Given the description of an element on the screen output the (x, y) to click on. 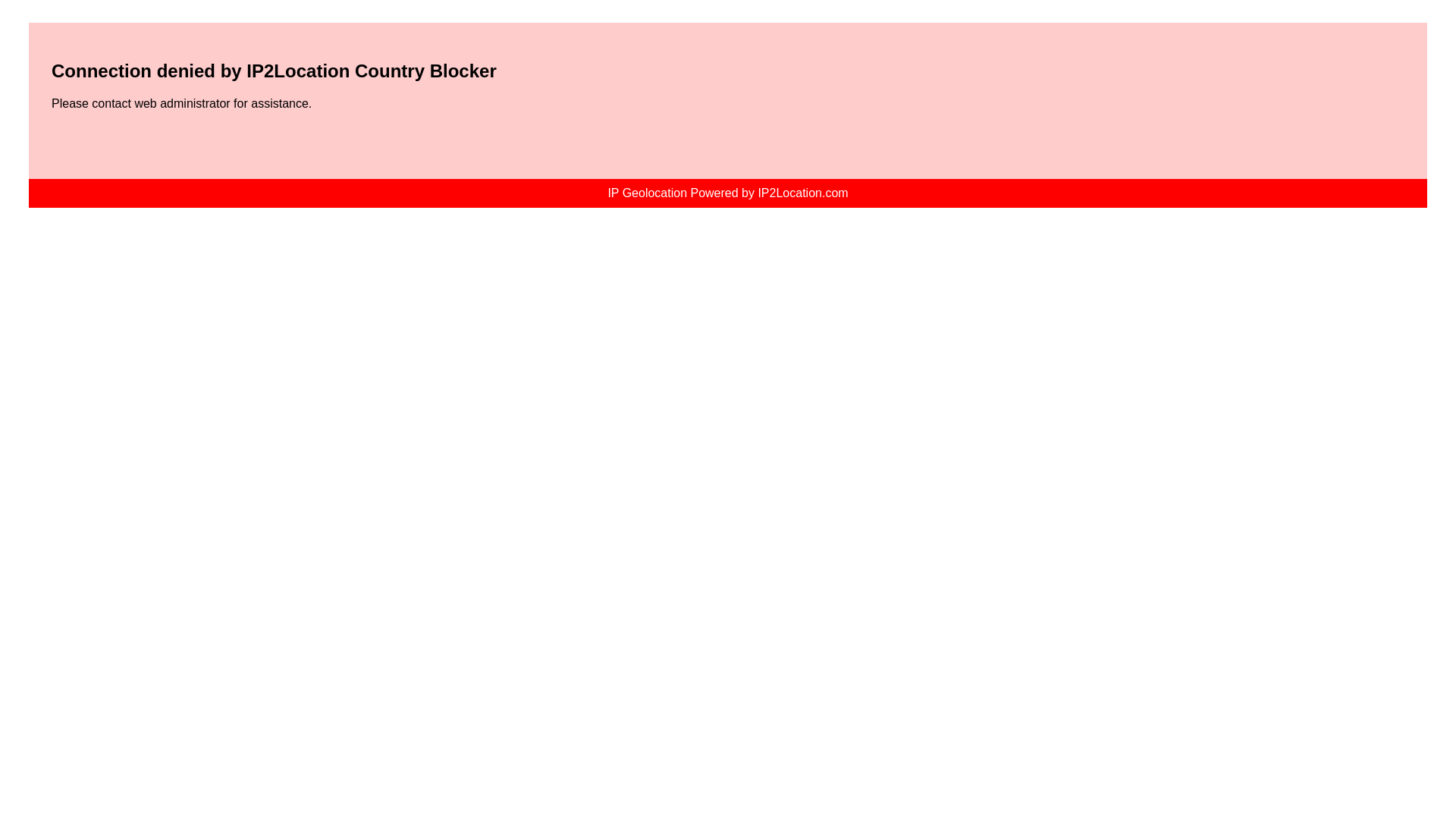
IP Geolocation Powered by IP2Location.com Element type: text (727, 192)
